Given the description of an element on the screen output the (x, y) to click on. 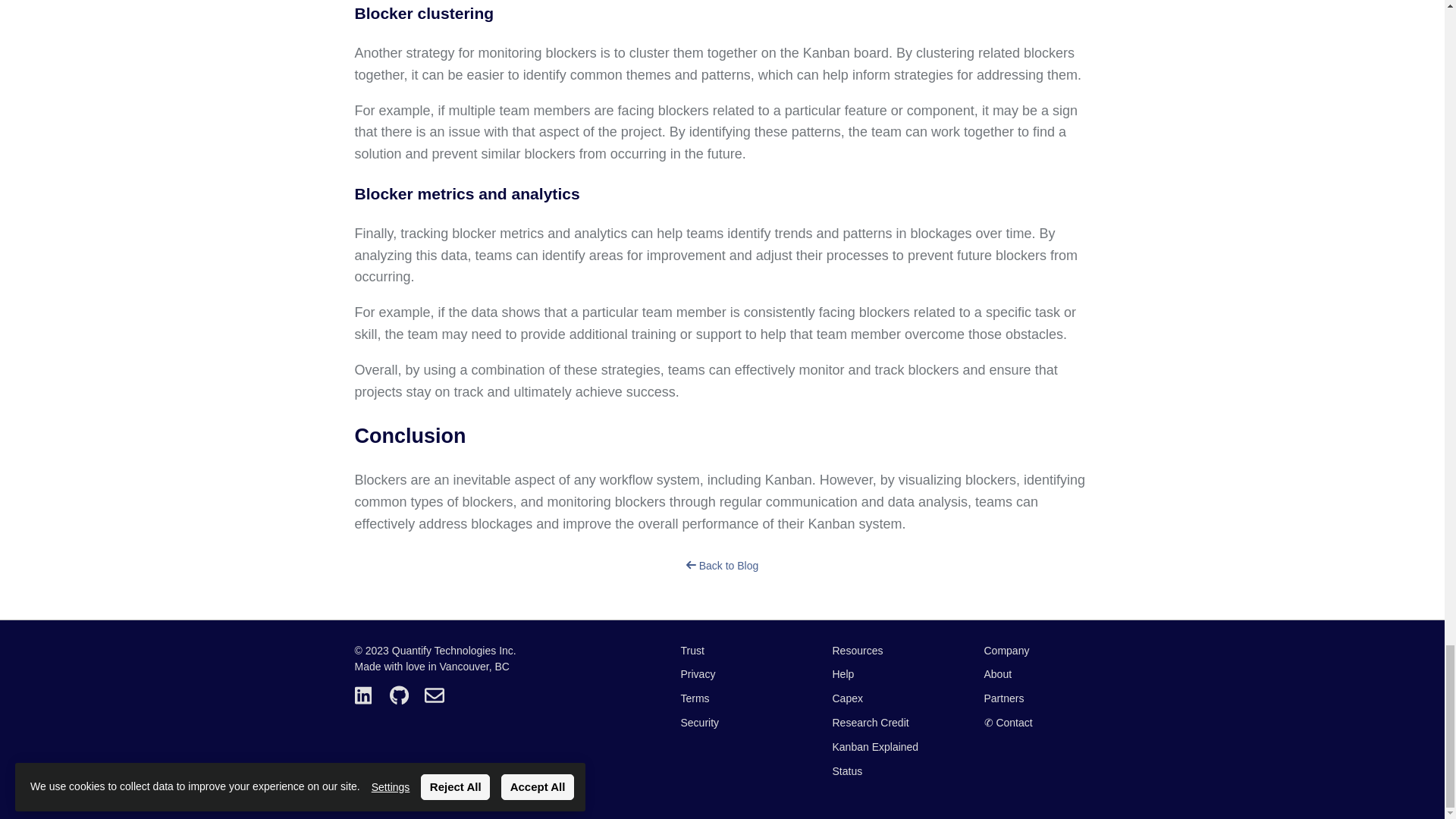
About (1037, 674)
Privacy (734, 674)
Security (734, 722)
Status (885, 771)
Terms (734, 698)
Kanban Explained (885, 747)
Back to Blog (721, 565)
Capex (885, 698)
Help (885, 674)
Partners (1037, 698)
